Given the description of an element on the screen output the (x, y) to click on. 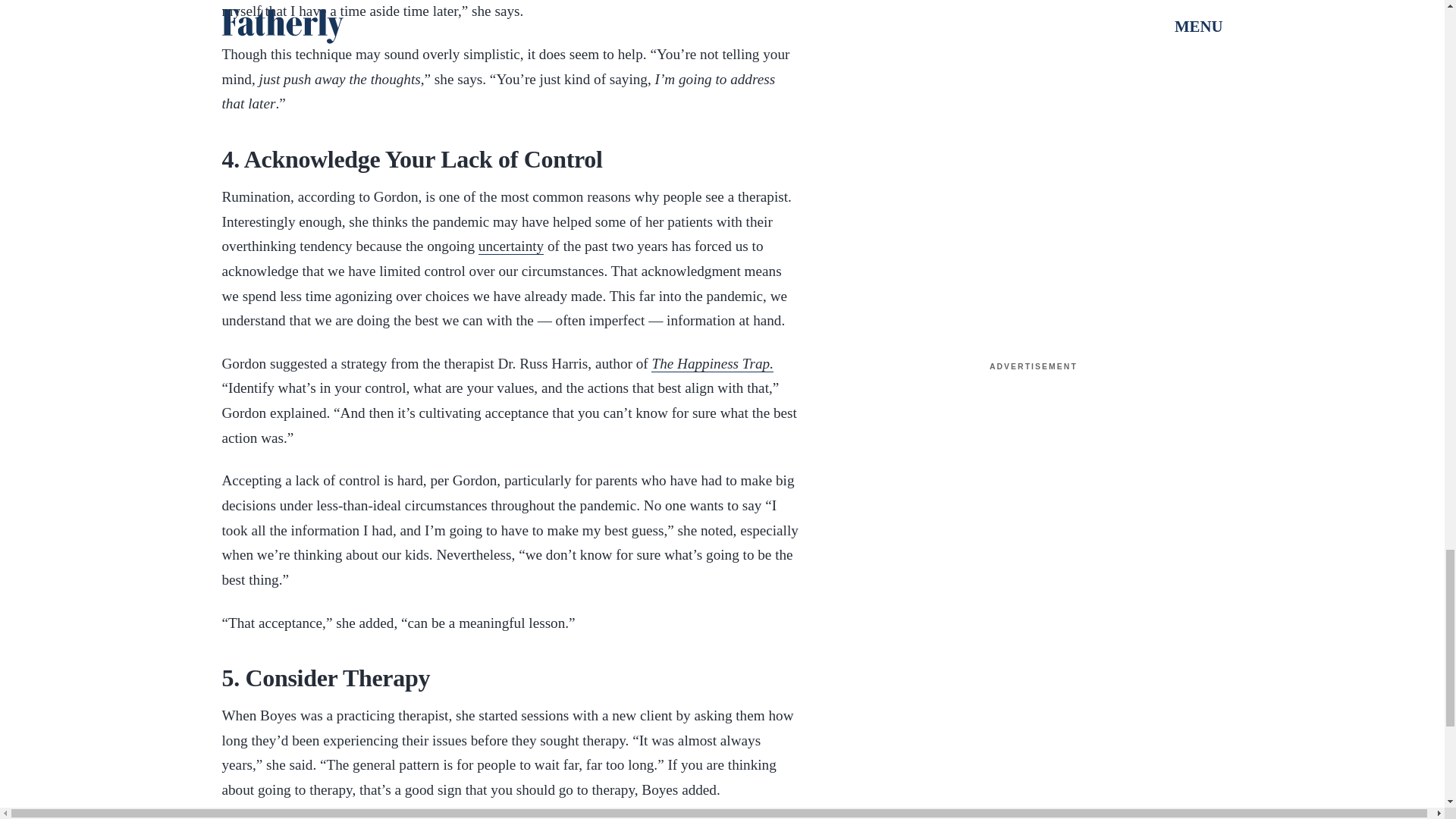
uncertainty (511, 246)
The Happiness Trap. (711, 363)
